Given the description of an element on the screen output the (x, y) to click on. 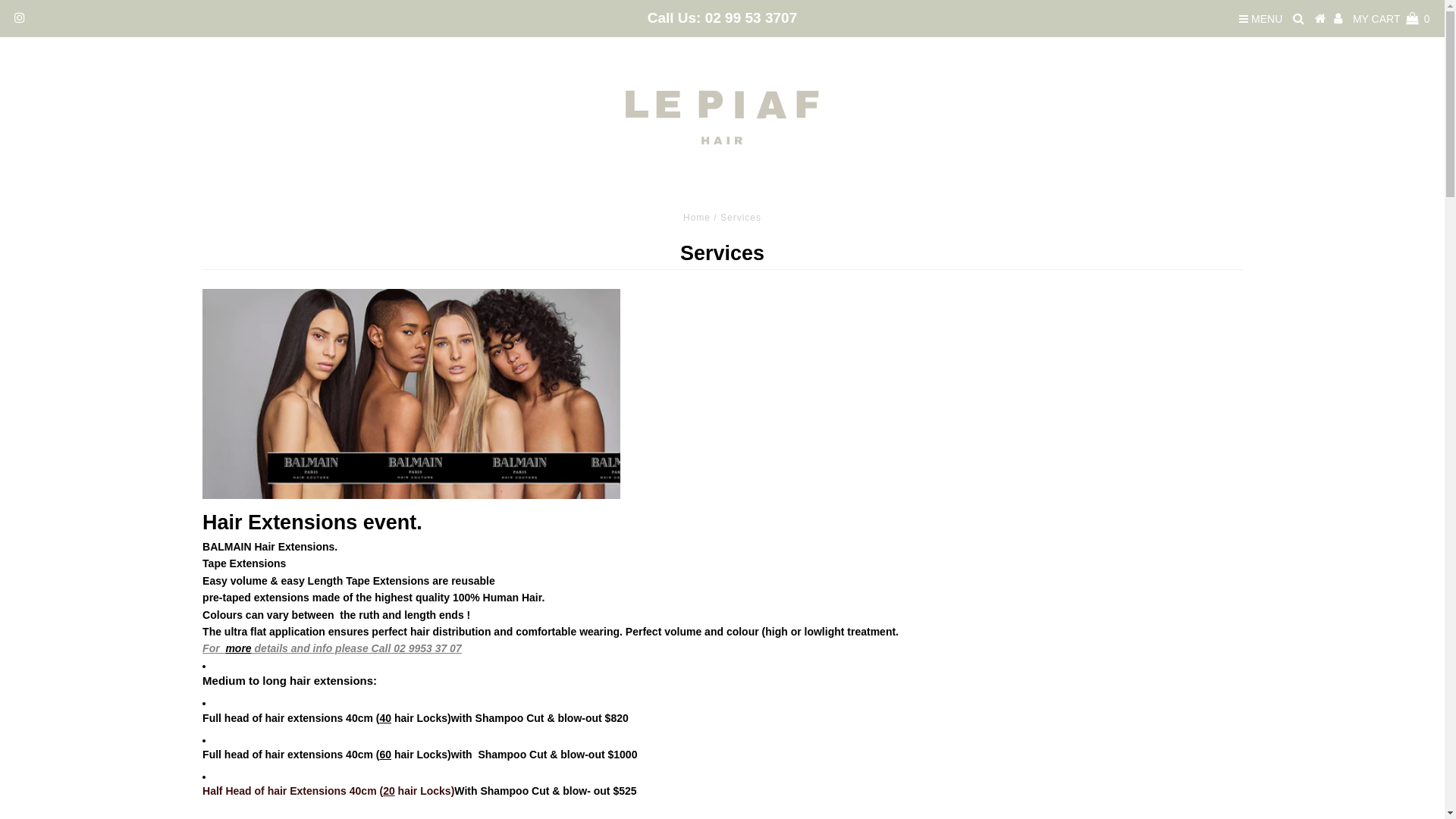
MY CART    0 Element type: text (1391, 18)
Call Us: 02 99 53 3707 Element type: text (722, 17)
Home Element type: text (696, 217)
